Given the description of an element on the screen output the (x, y) to click on. 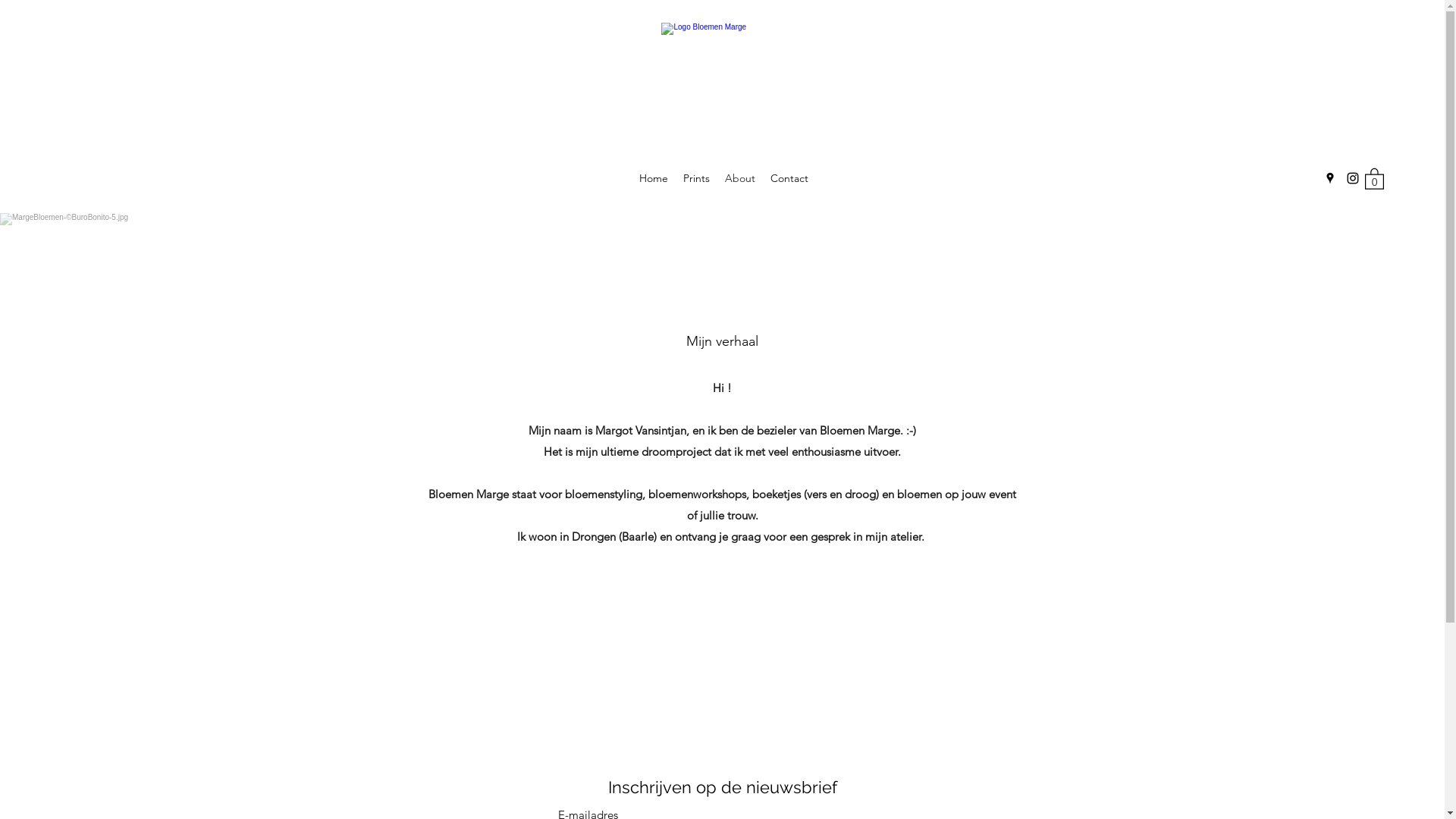
Home Element type: text (653, 177)
0 Element type: text (1374, 177)
About Element type: text (739, 177)
Prints Element type: text (696, 177)
Contact Element type: text (788, 177)
